Given the description of an element on the screen output the (x, y) to click on. 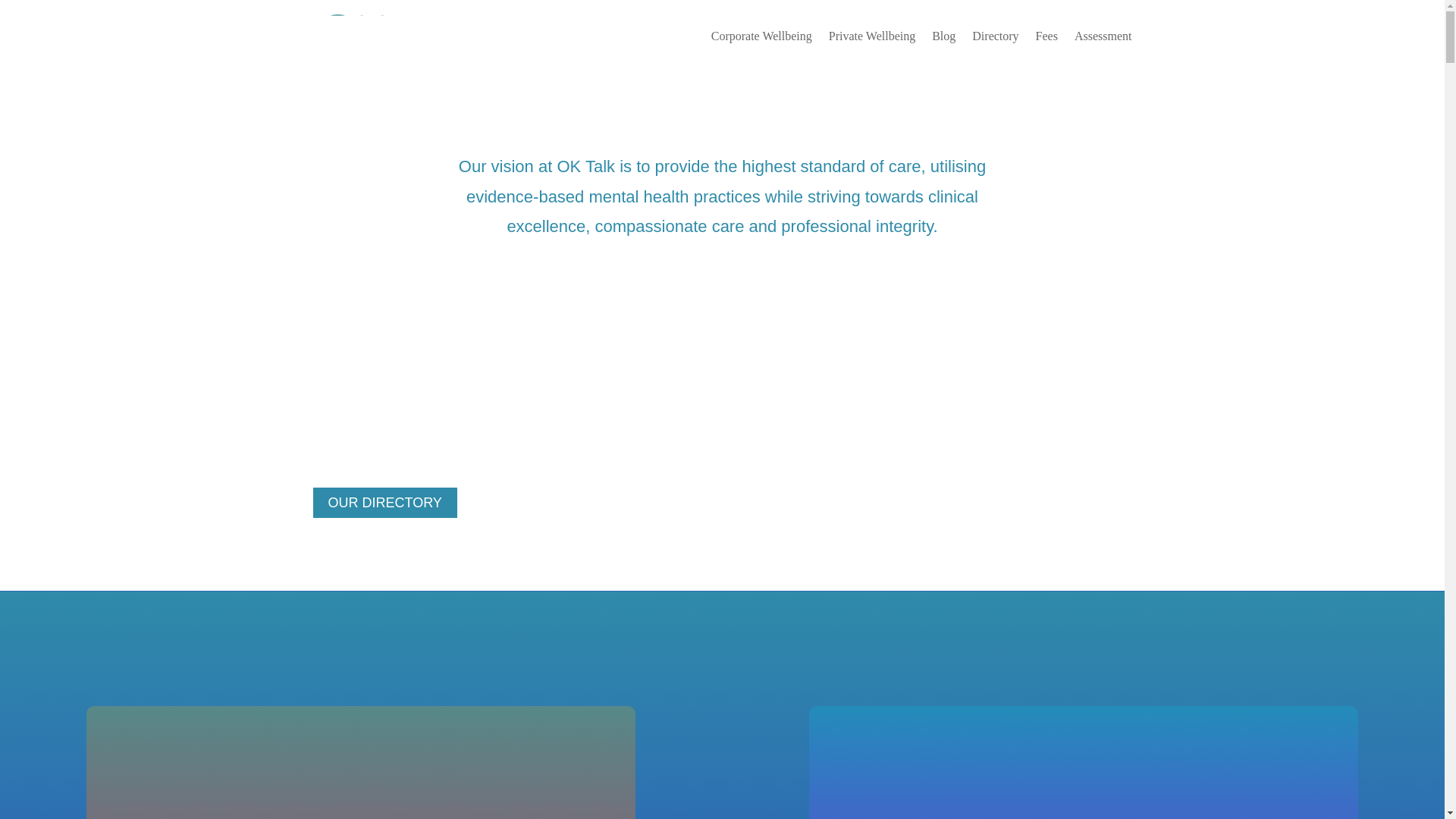
Assessment (1103, 36)
Corporate Wellbeing (761, 36)
OUR DIRECTORY (385, 502)
Private Wellbeing (871, 36)
